Given the description of an element on the screen output the (x, y) to click on. 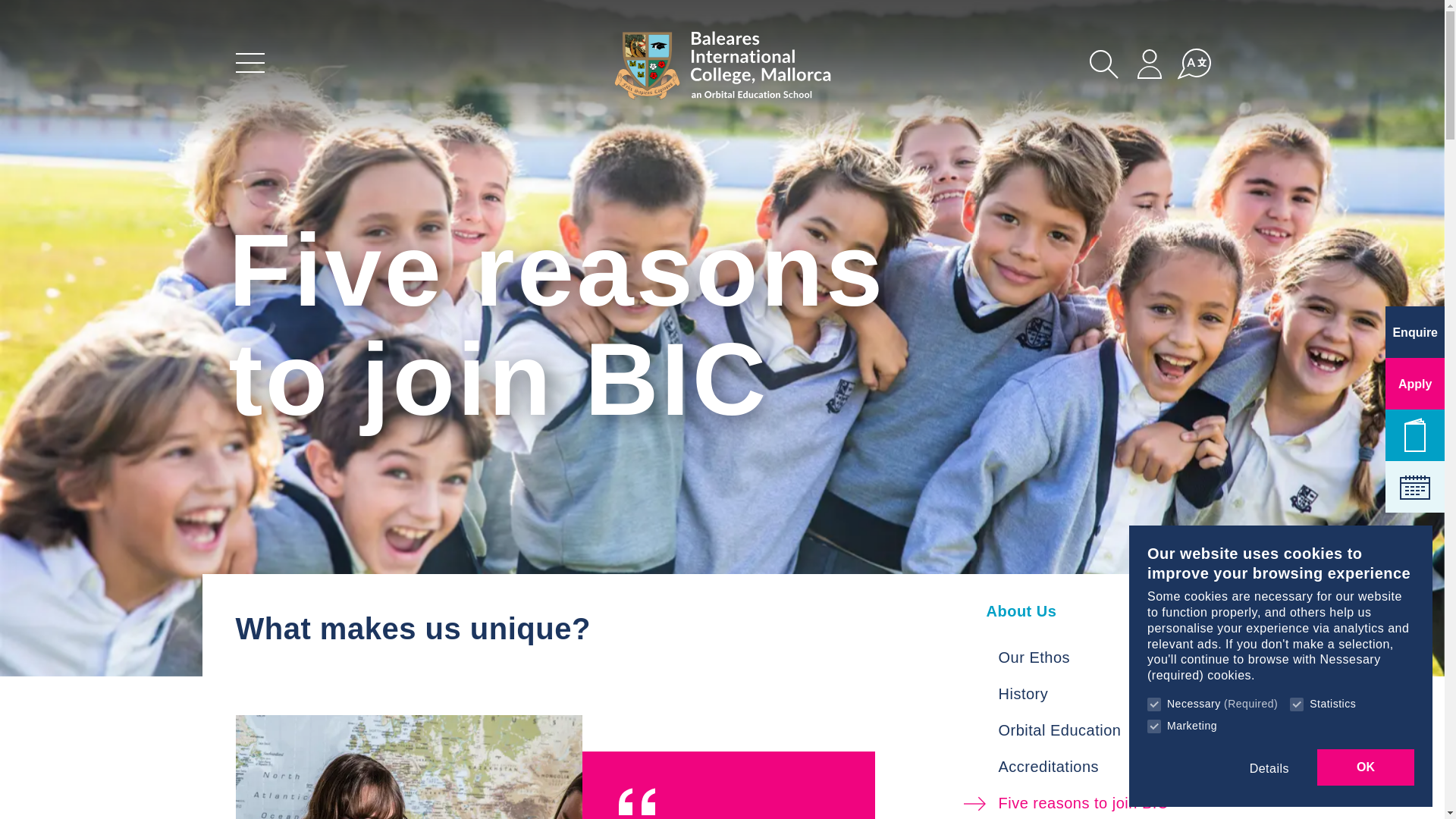
Details (1269, 768)
on (1296, 704)
on (1153, 726)
OK (1365, 767)
on (1153, 704)
